Given the description of an element on the screen output the (x, y) to click on. 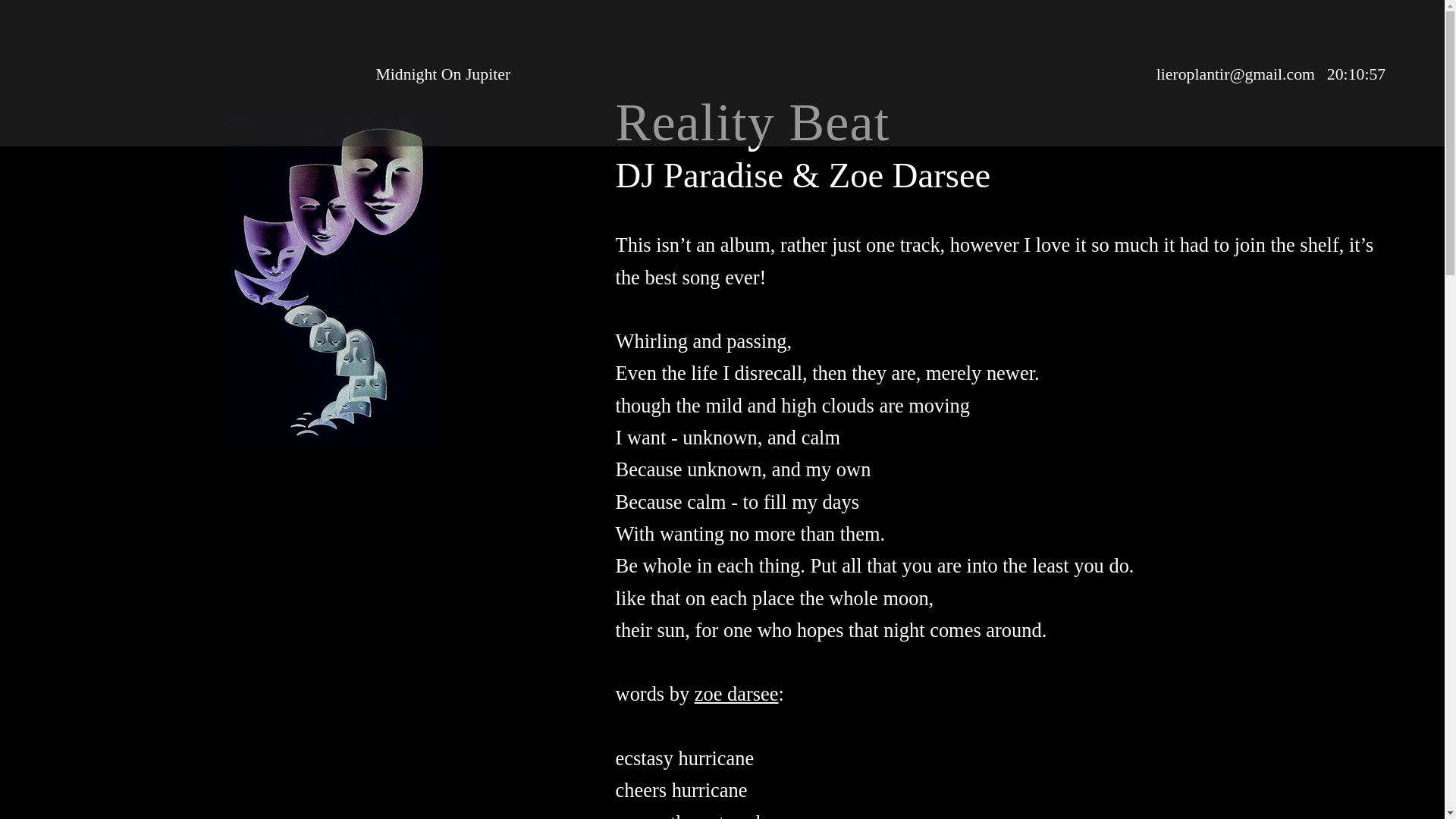
zoe darsee (736, 694)
Midnight On Jupiter (443, 75)
